Given the description of an element on the screen output the (x, y) to click on. 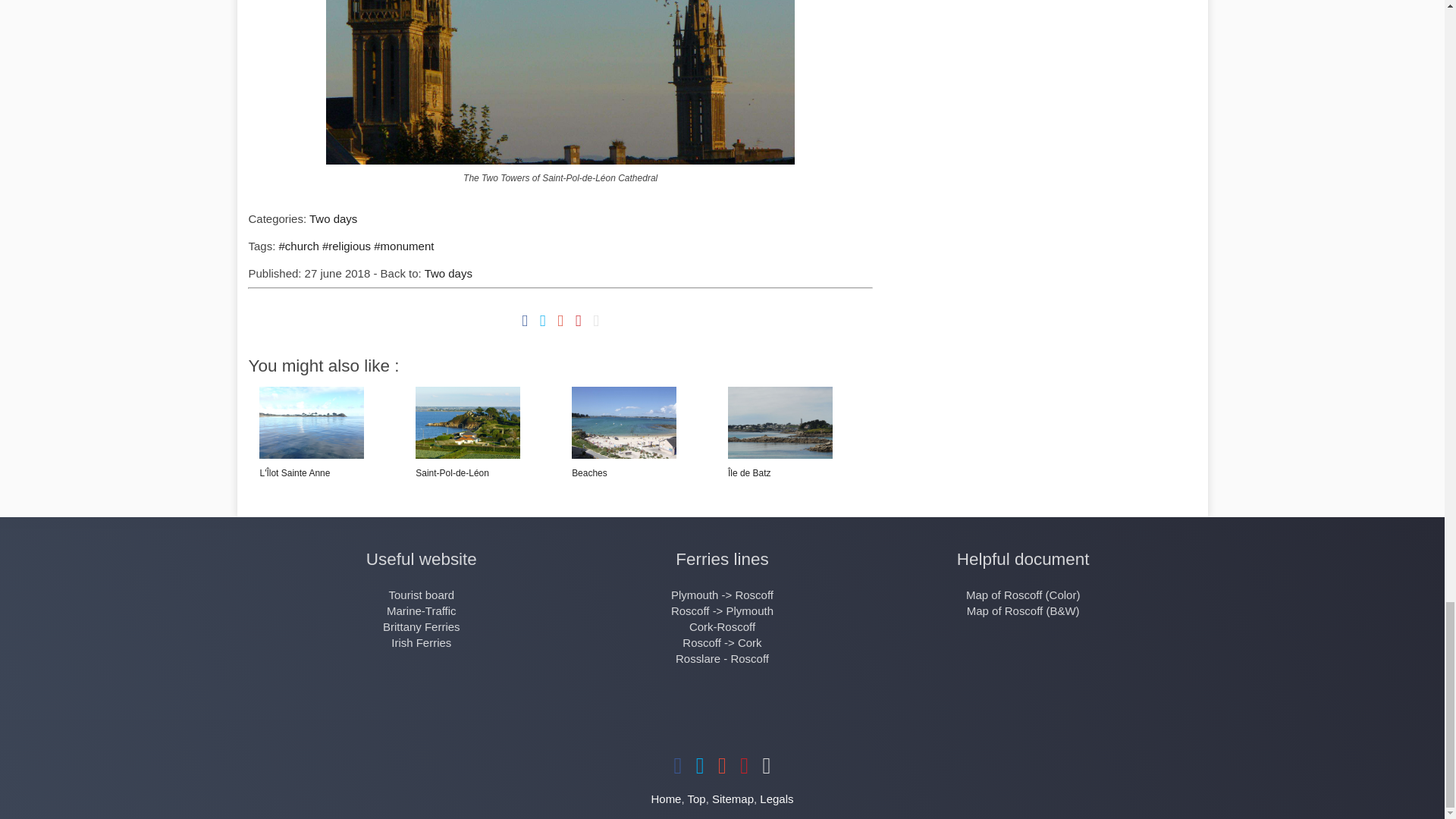
religious (346, 245)
Two days (448, 273)
Beaches (624, 465)
Two days (448, 273)
Two days (332, 218)
monument (403, 245)
Two days (332, 218)
church (298, 245)
Beaches (624, 465)
